Given the description of an element on the screen output the (x, y) to click on. 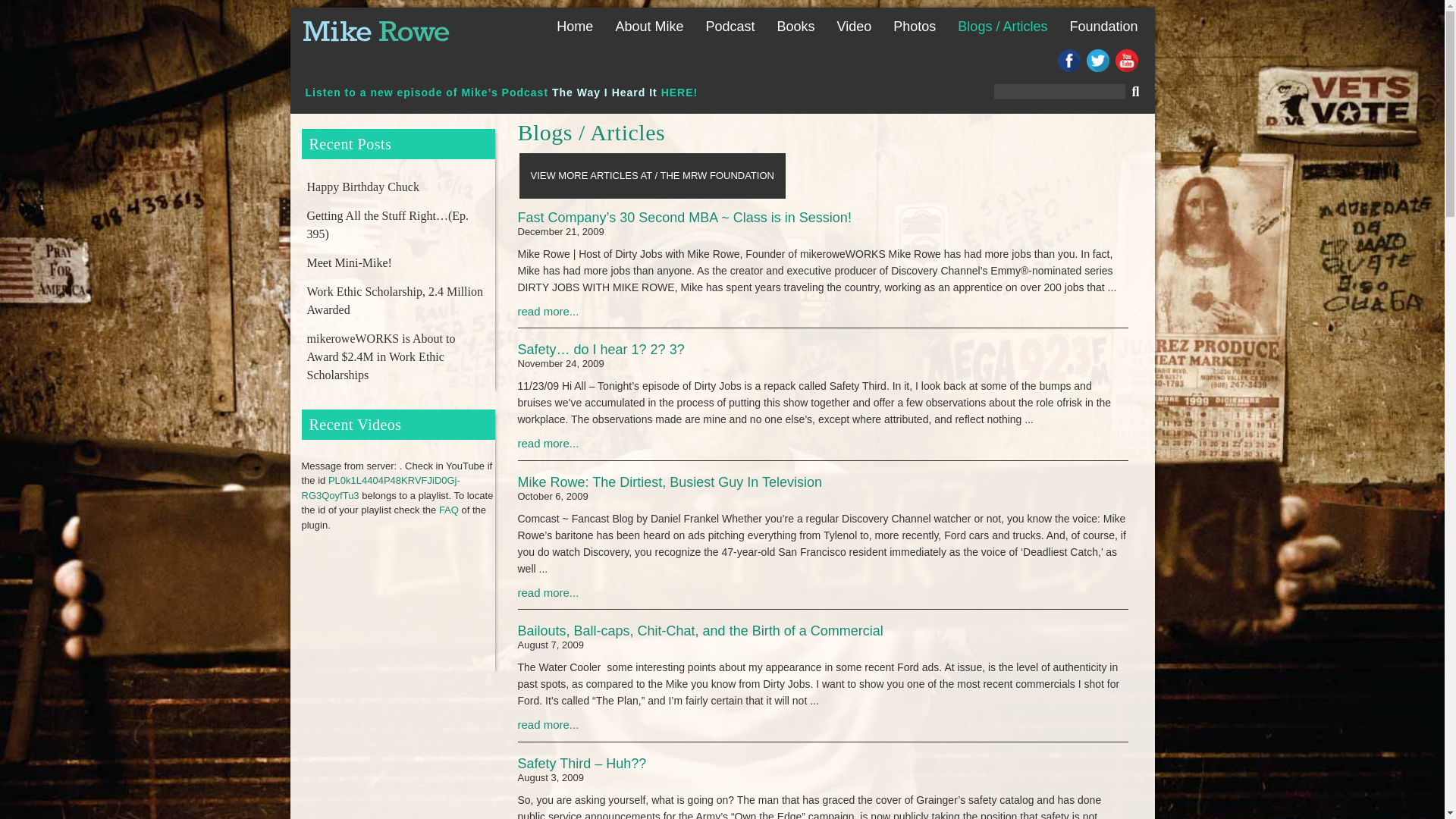
Books (796, 26)
Podcast (728, 26)
Podcast (728, 26)
Video (854, 26)
view more articles at the mrw foundation (651, 176)
Photos (913, 26)
Foundation (1103, 26)
Mike Rowe: The Dirtiest, Busiest Guy In Television (821, 491)
About Mike (649, 26)
Home (574, 26)
About Mike (649, 26)
HERE! (679, 92)
The Way I Heard It (604, 92)
